Given the description of an element on the screen output the (x, y) to click on. 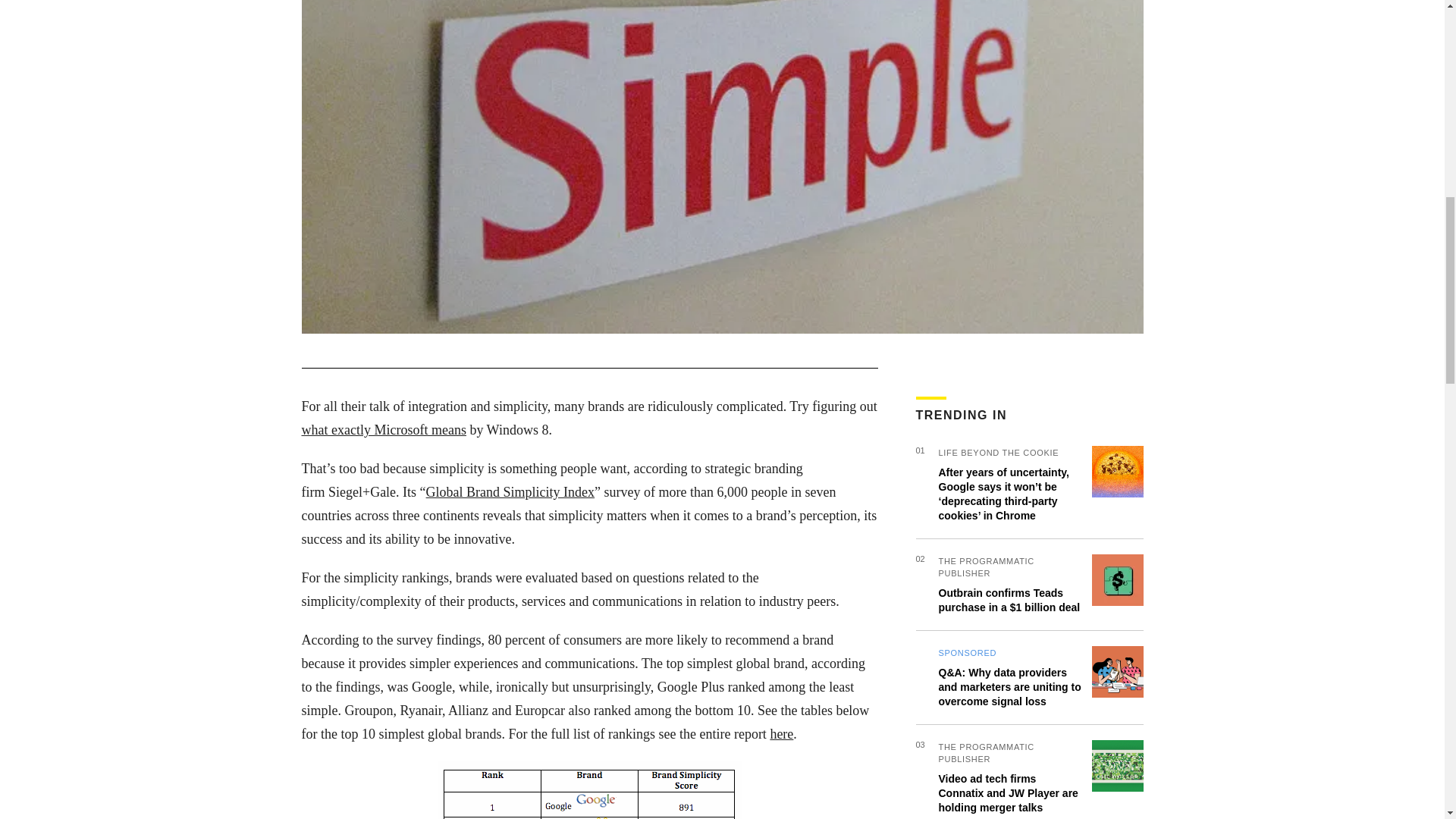
brandsimp (588, 790)
